Given the description of an element on the screen output the (x, y) to click on. 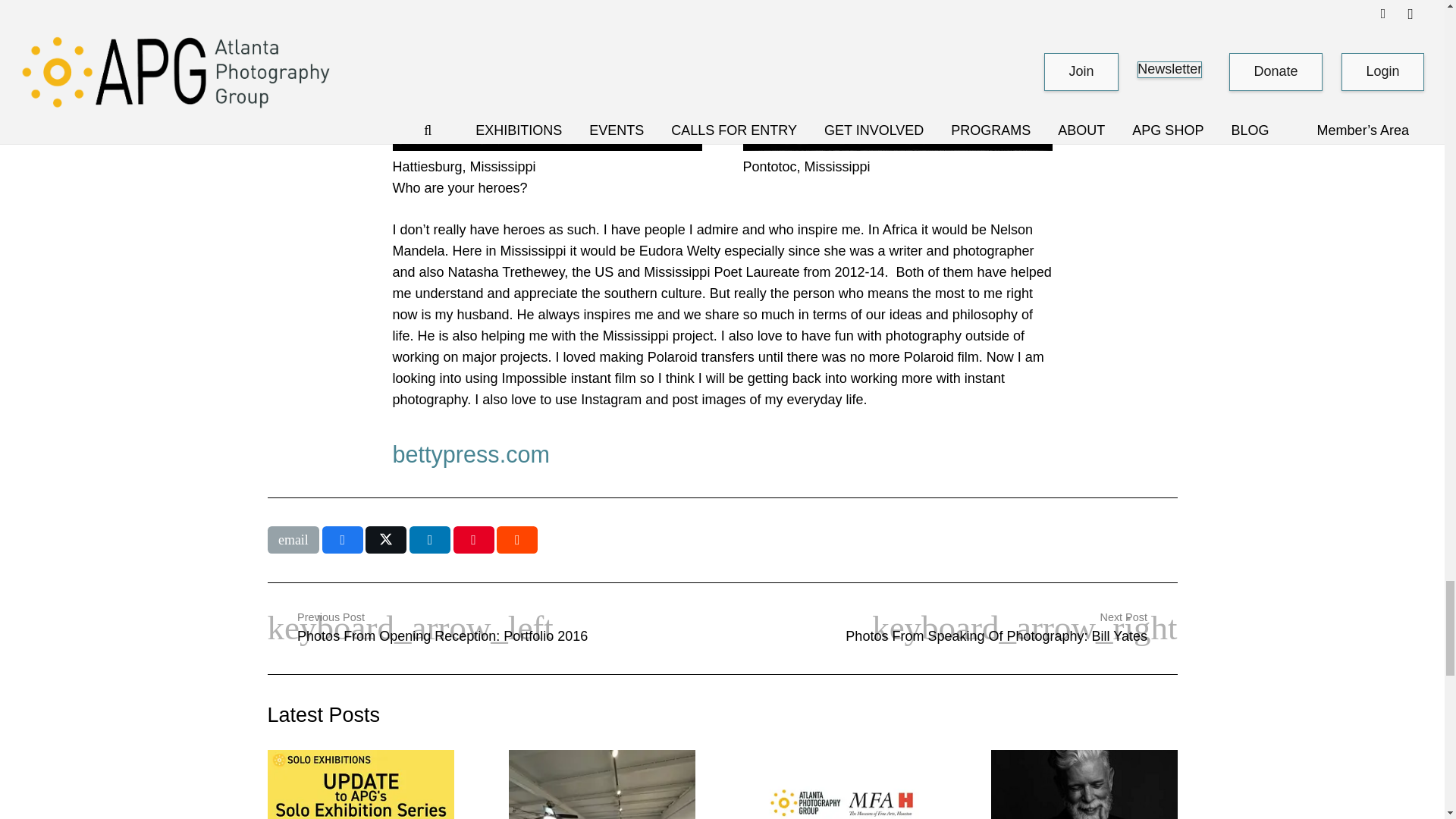
Email this (292, 539)
Share this (341, 539)
Share this (429, 539)
Photos From Speaking Of Photography: Bill Yates (949, 628)
Photos From Opening Reception: Portfolio 2016 (494, 628)
Tweet this (385, 539)
Pin this (473, 539)
Share this (516, 539)
